Given the description of an element on the screen output the (x, y) to click on. 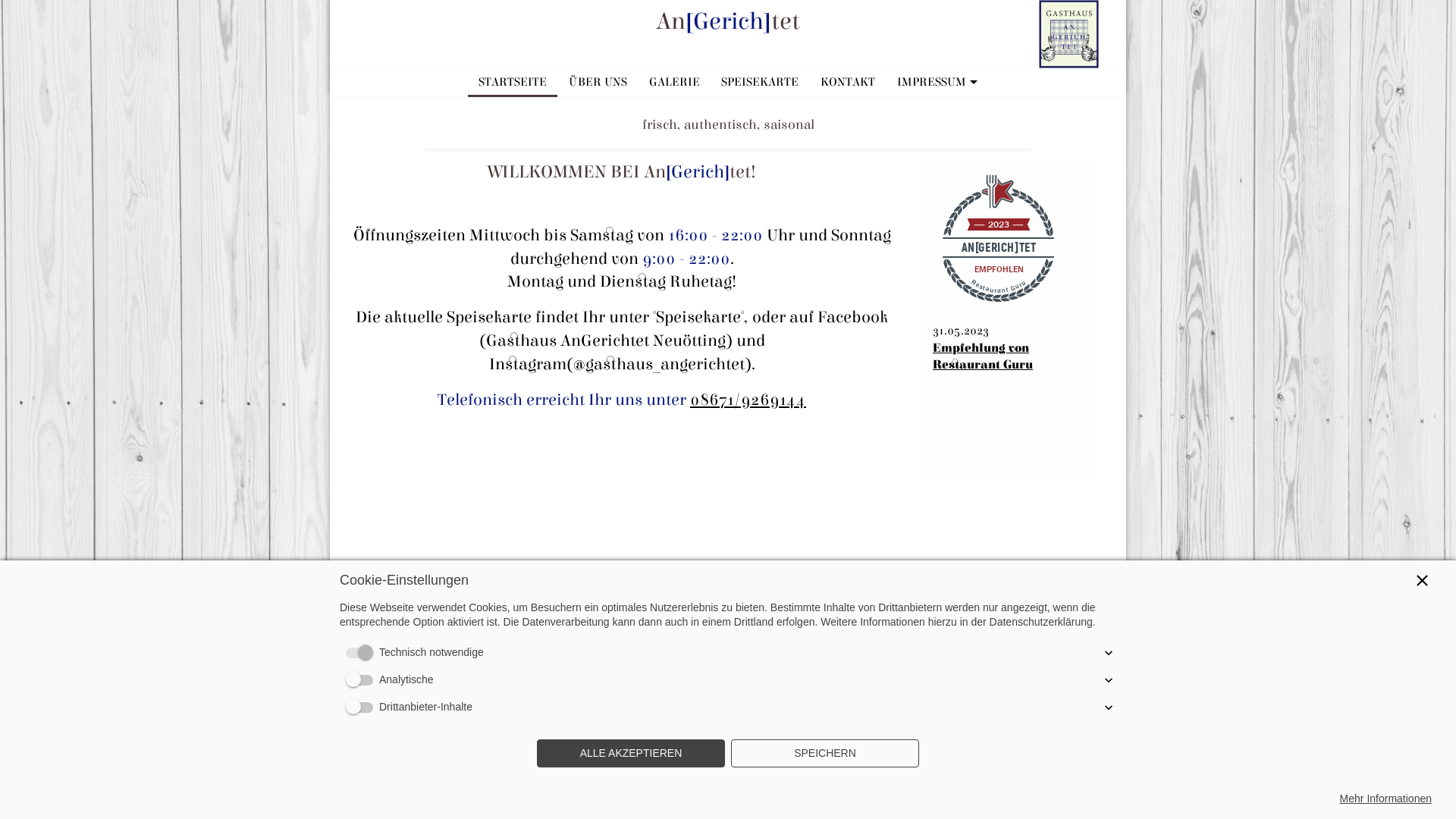
Mehr Informationen Element type: text (1385, 798)
SPEISEKARTE Element type: text (759, 81)
GALERIE Element type: text (673, 81)
08671/9269144 Element type: text (748, 399)
KONTAKT Element type: text (847, 81)
AN[GERICH]TET
2023
EMPFOHLEN
Restaurant Guru Element type: text (998, 241)
SPEICHERN Element type: text (825, 753)
STARTSEITE Element type: text (512, 81)
Empfehlung von Restaurant Guru Element type: text (982, 356)
AN[GERICH]TET Element type: text (998, 246)
ALLE AKZEPTIEREN Element type: text (630, 753)
IMPRESSUM Element type: text (937, 81)
